Given the description of an element on the screen output the (x, y) to click on. 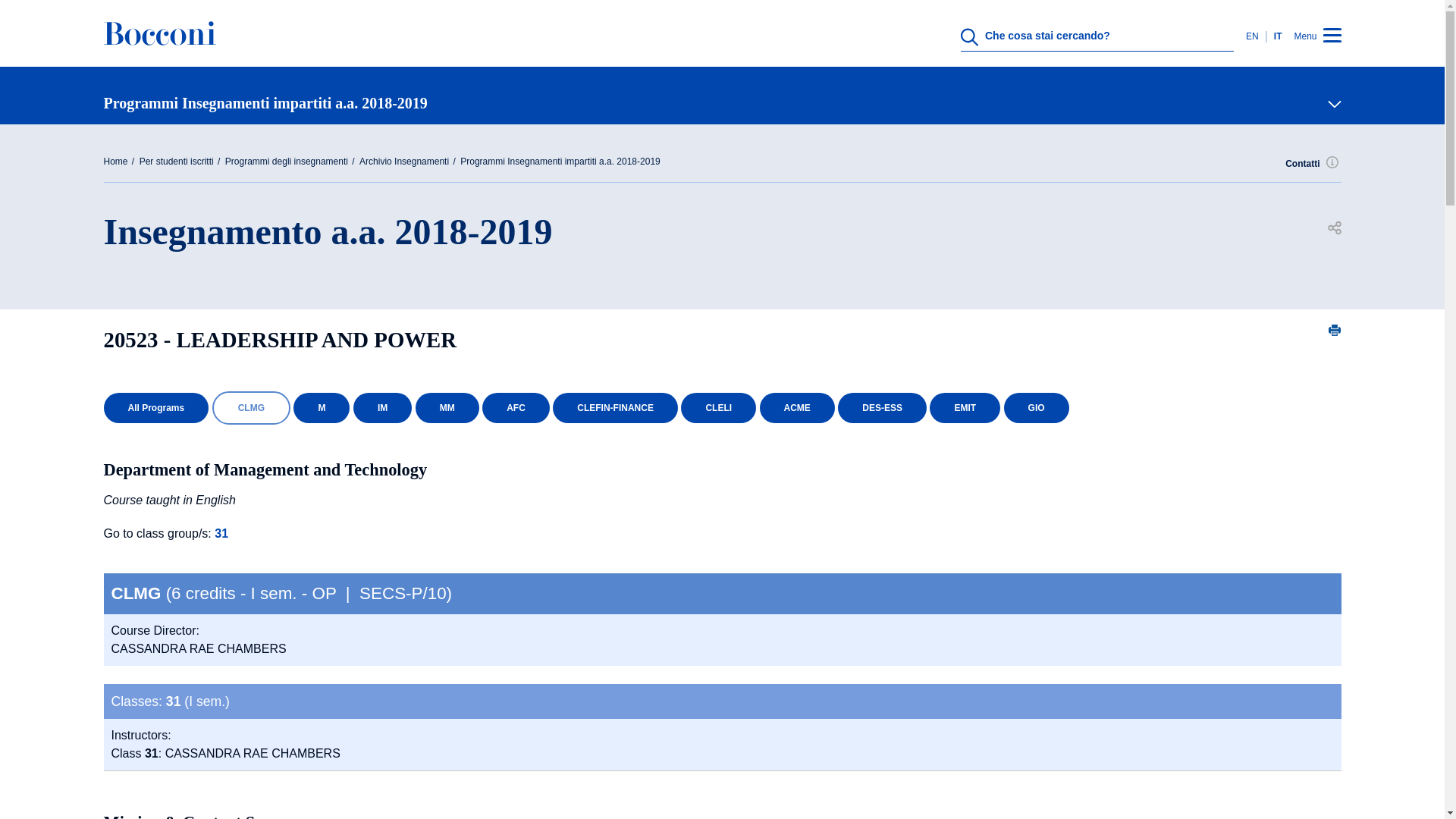
English (1255, 36)
Home (159, 43)
Chi siamo (716, 328)
Campus (716, 551)
Docenti e Ricerca (716, 476)
IT (1275, 36)
Entrare in Bocconi (716, 625)
Corsi di studio (716, 402)
Italian (1275, 36)
EN (1255, 36)
